Given the description of an element on the screen output the (x, y) to click on. 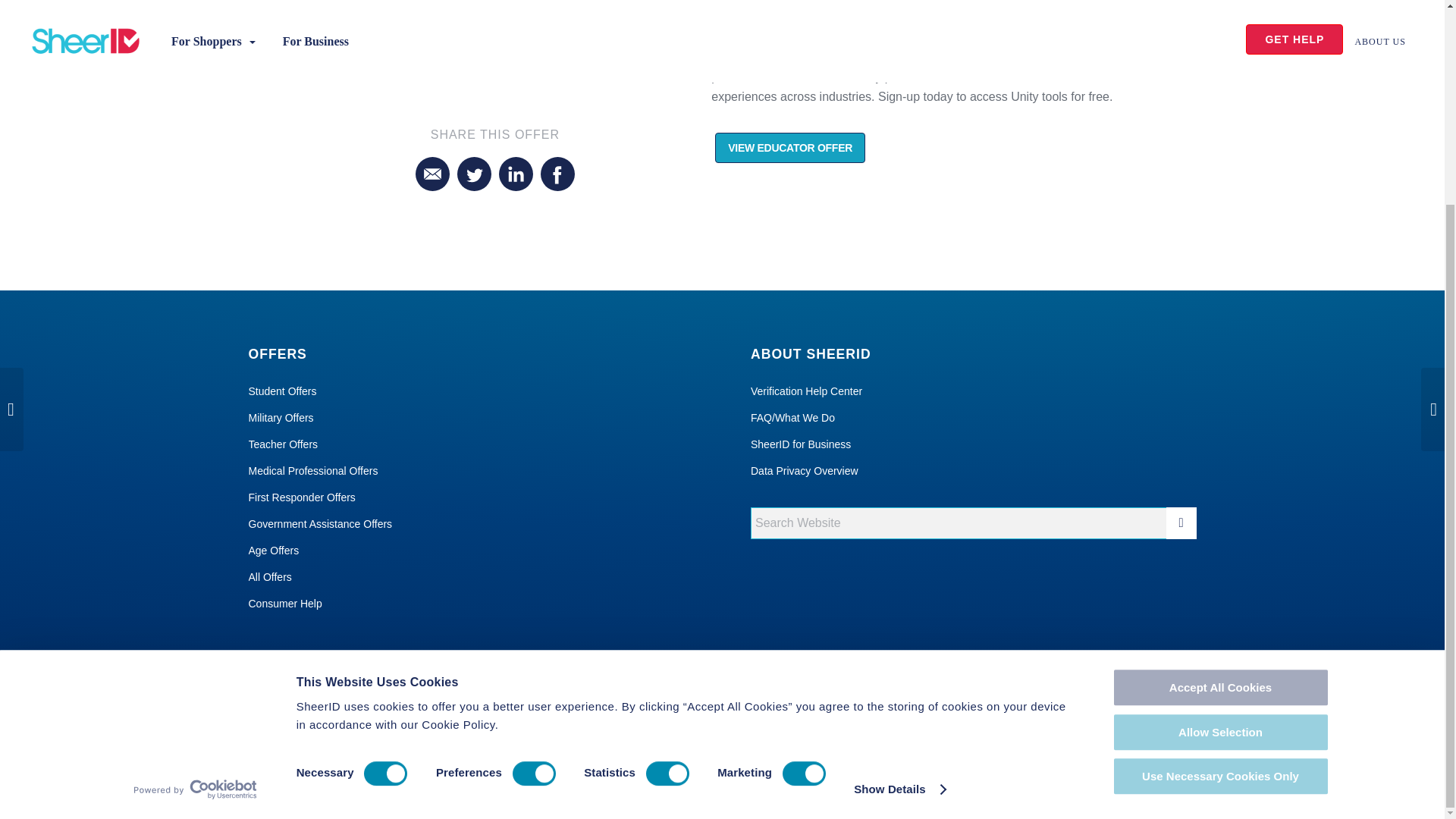
Show Details (898, 526)
